Given the description of an element on the screen output the (x, y) to click on. 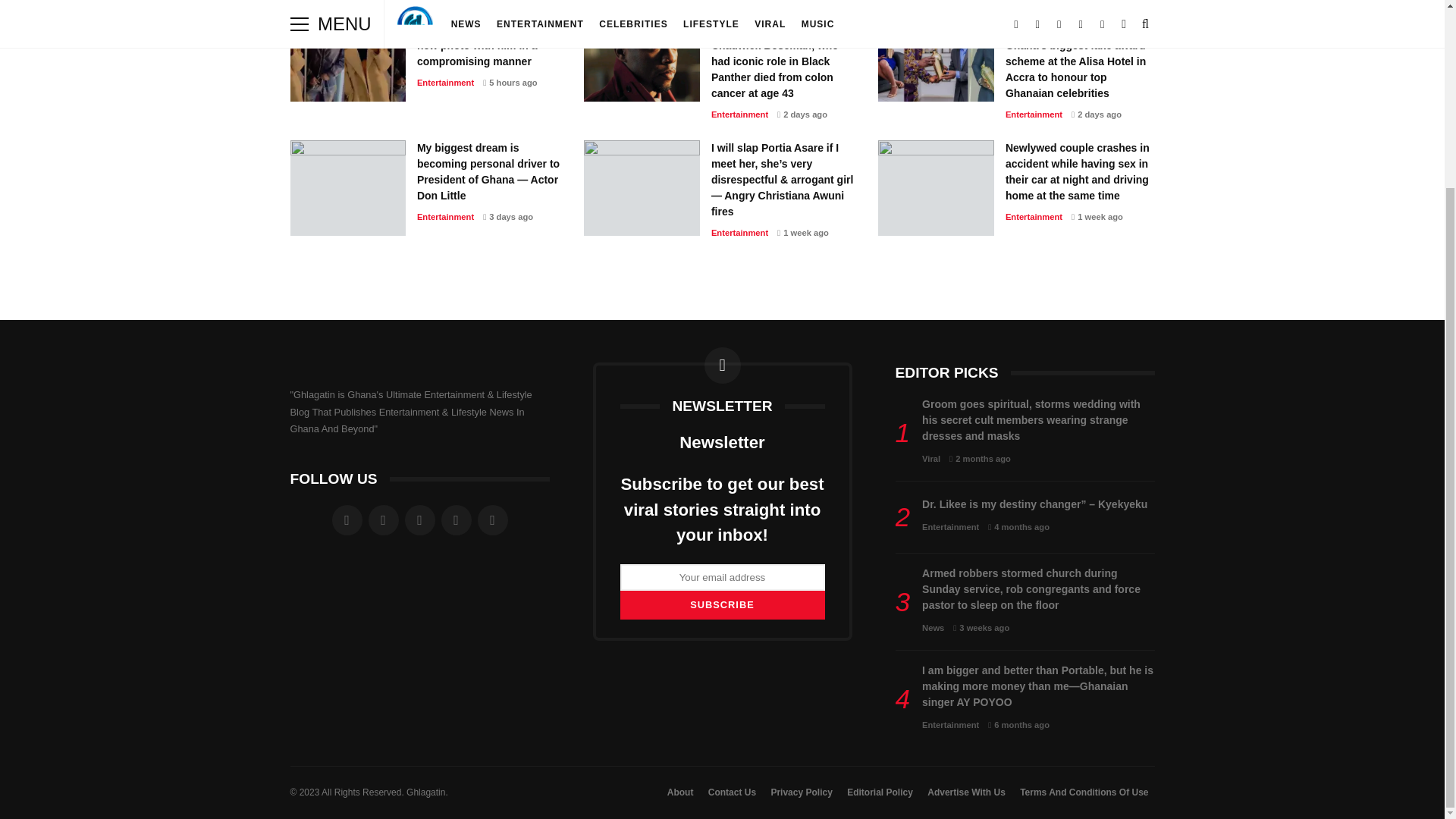
Entertainment (445, 81)
Subscribe (722, 604)
Entertainment (739, 113)
